Given the description of an element on the screen output the (x, y) to click on. 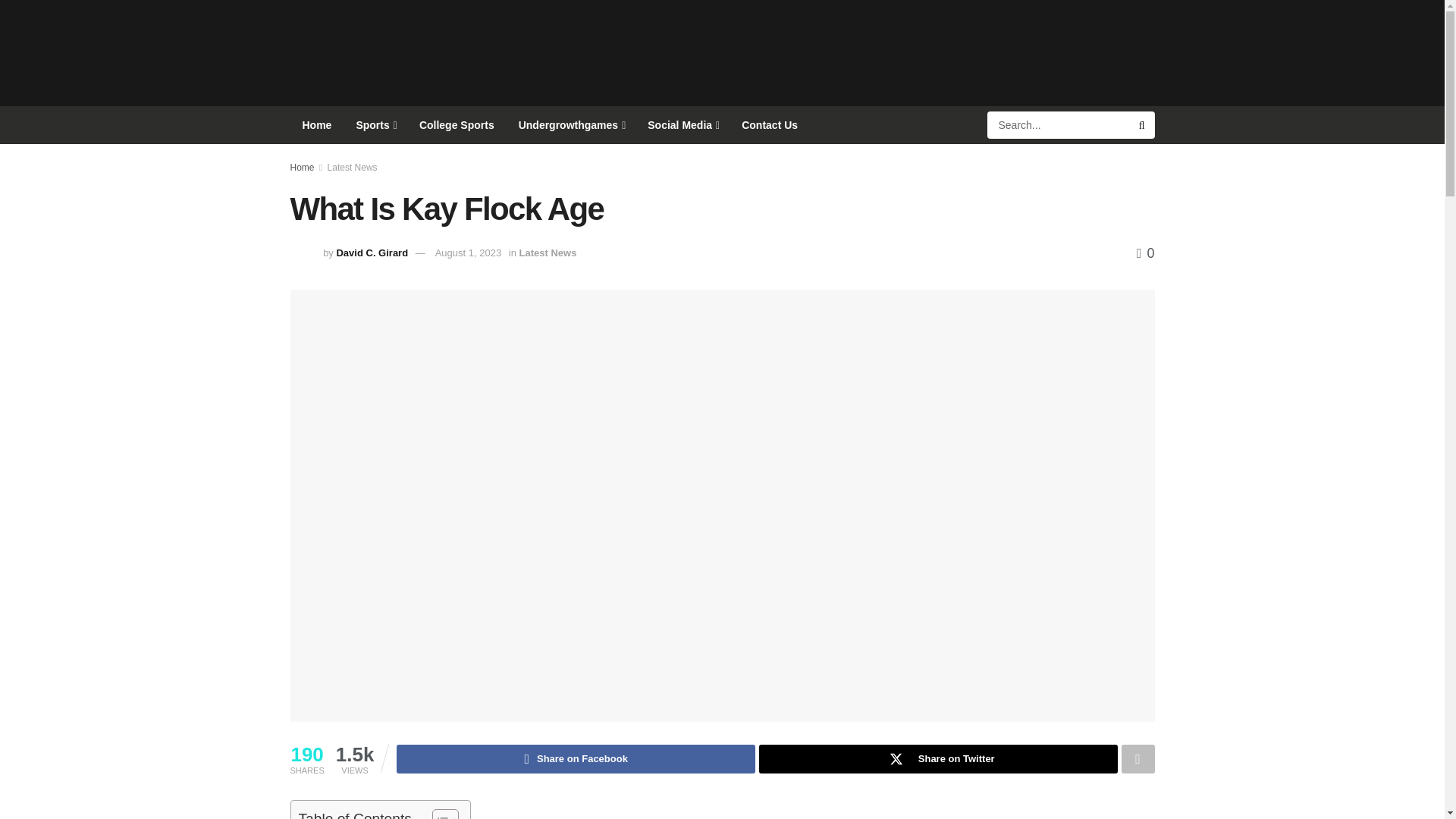
Sports (374, 125)
Home (316, 125)
Undergrowthgames (571, 125)
Social Media (681, 125)
Contact Us (769, 125)
College Sports (456, 125)
